Given the description of an element on the screen output the (x, y) to click on. 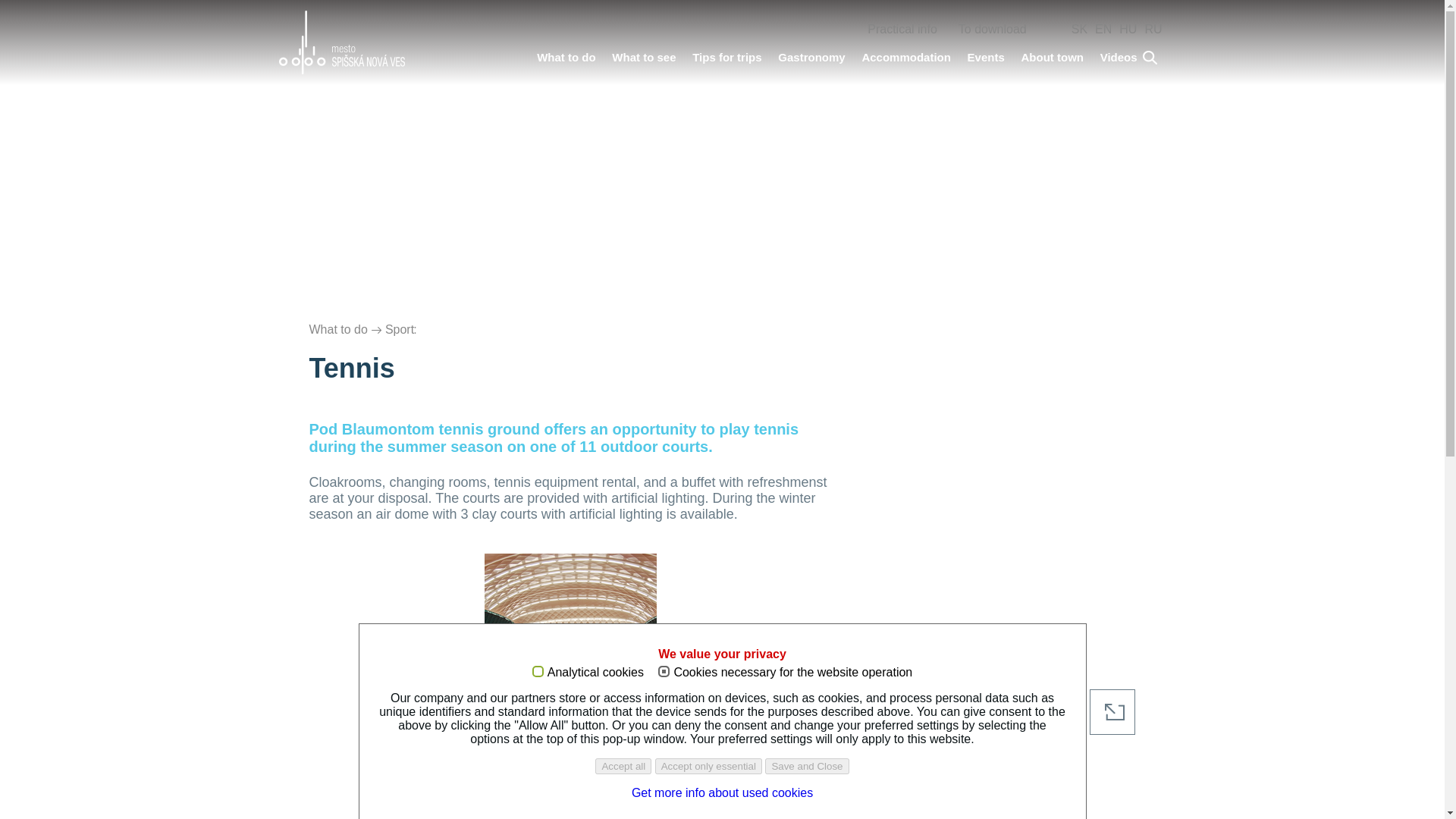
To download (991, 29)
Practical info (902, 29)
What to do (566, 59)
Practical info (902, 29)
What to do (566, 59)
To download (991, 29)
